Given the description of an element on the screen output the (x, y) to click on. 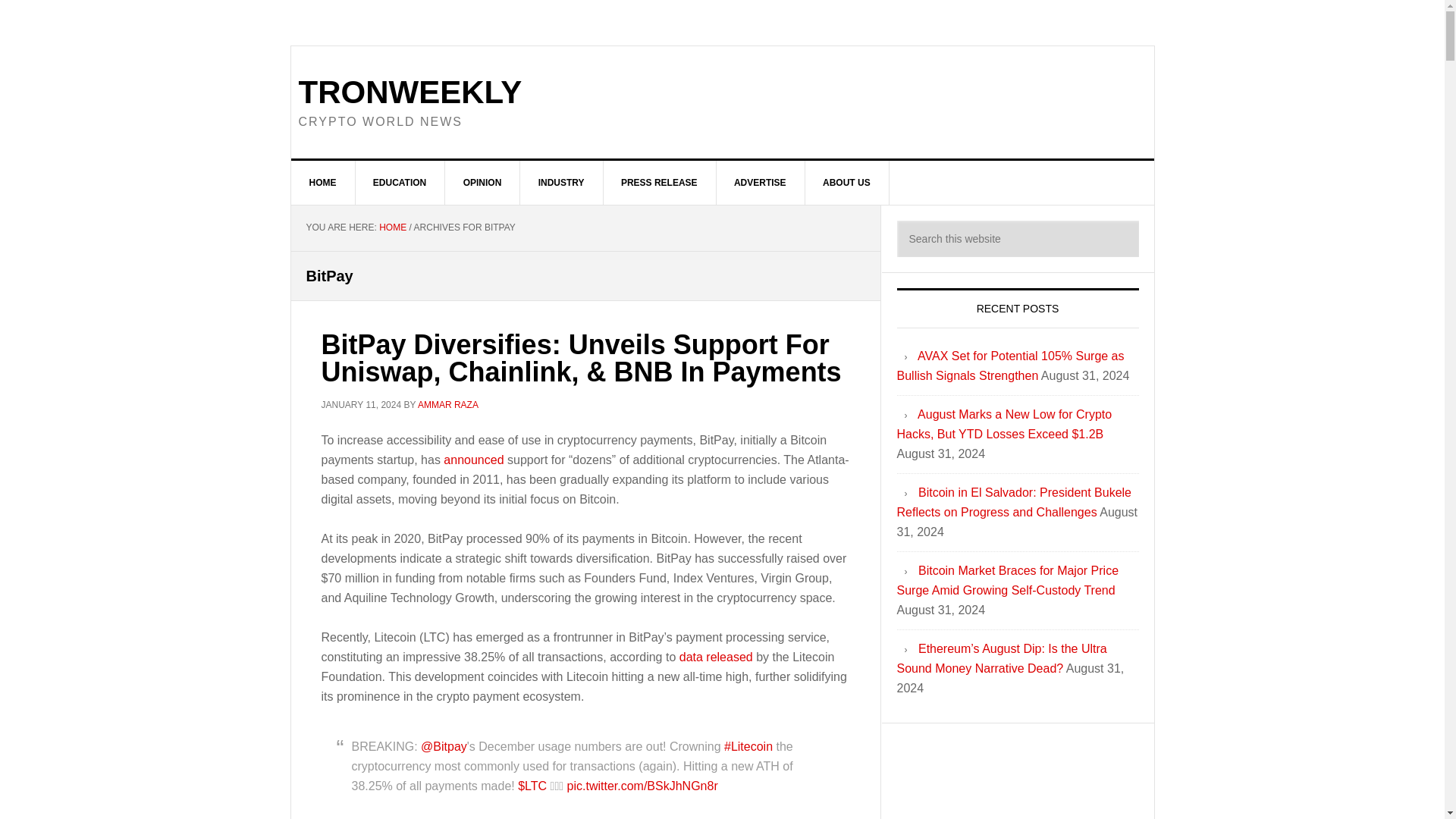
announced (475, 459)
TRONWEEKLY (410, 91)
HOME (323, 182)
PRESS RELEASE (659, 182)
EDUCATION (400, 182)
INDUSTRY (561, 182)
data released (715, 656)
AMMAR RAZA (448, 403)
HOME (392, 226)
